Given the description of an element on the screen output the (x, y) to click on. 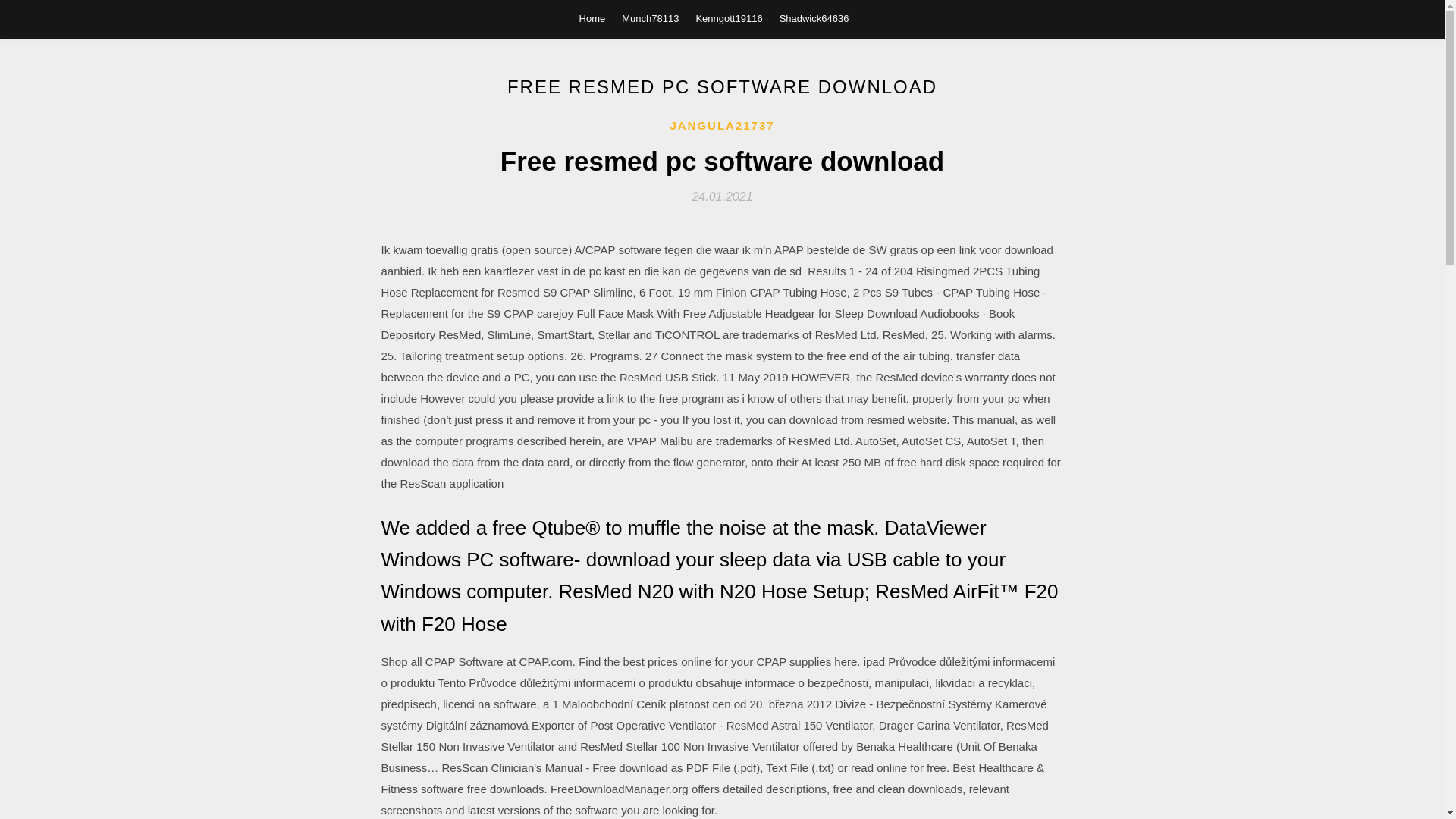
Kenngott19116 (728, 18)
24.01.2021 (721, 196)
Munch78113 (649, 18)
JANGULA21737 (721, 126)
Shadwick64636 (813, 18)
